Given the description of an element on the screen output the (x, y) to click on. 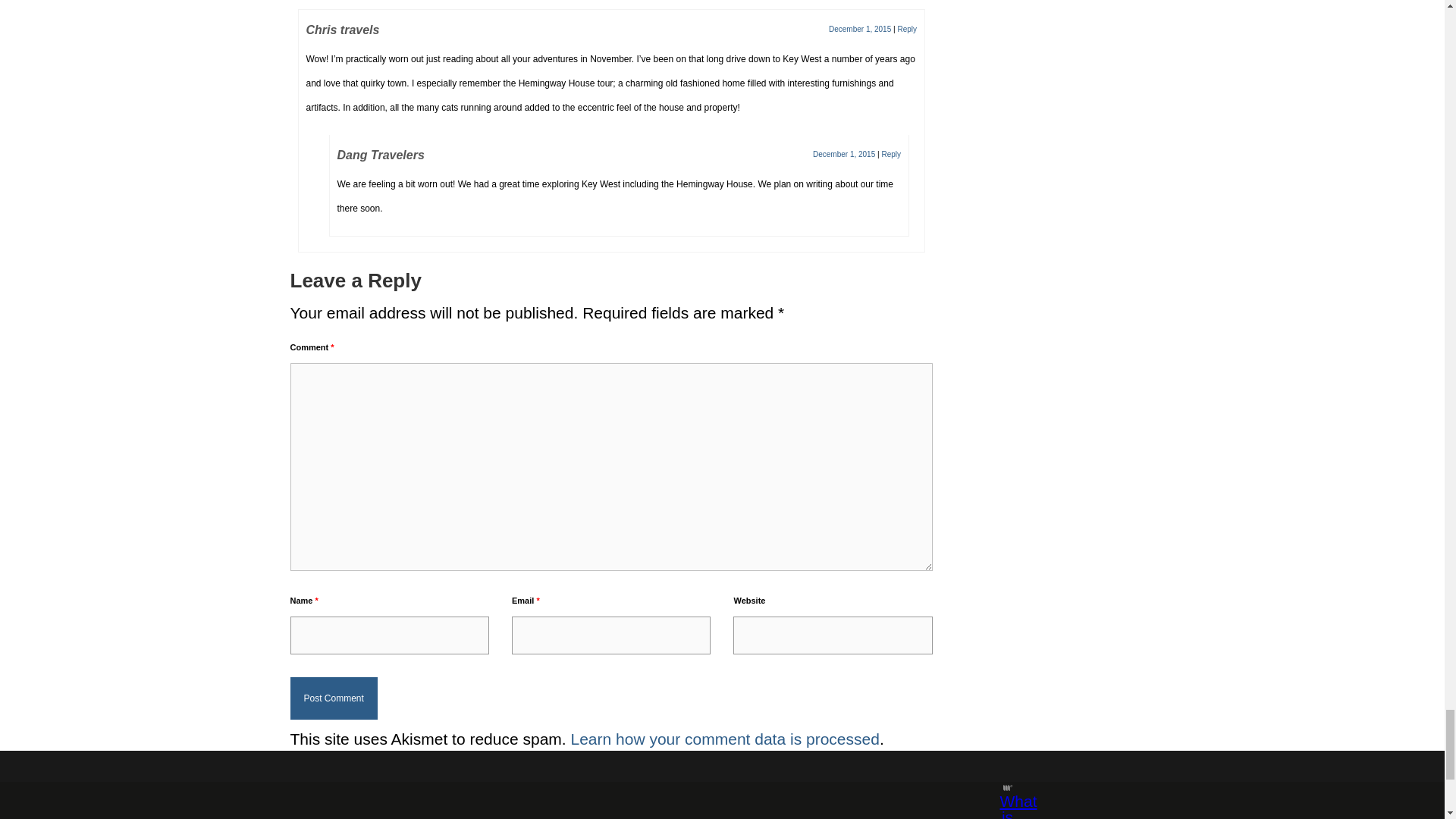
Post Comment (333, 698)
